Given the description of an element on the screen output the (x, y) to click on. 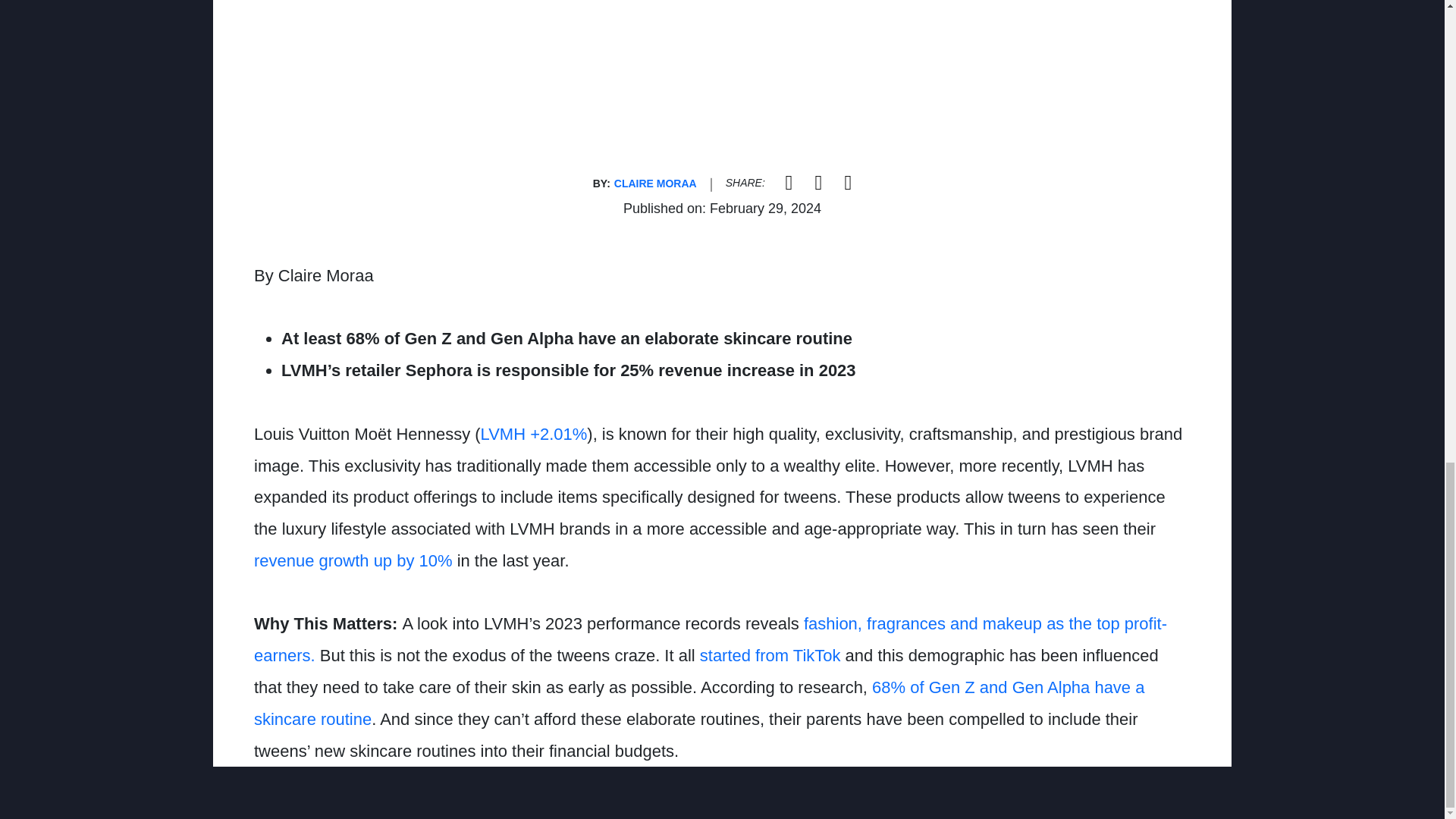
started from TikTok (770, 655)
CLAIRE MORAA (655, 183)
fashion, fragrances and makeup as the top profit-earners. (710, 639)
Spotify Embed: Tween Wave (722, 90)
Posts by Claire Moraa (655, 183)
